Given the description of an element on the screen output the (x, y) to click on. 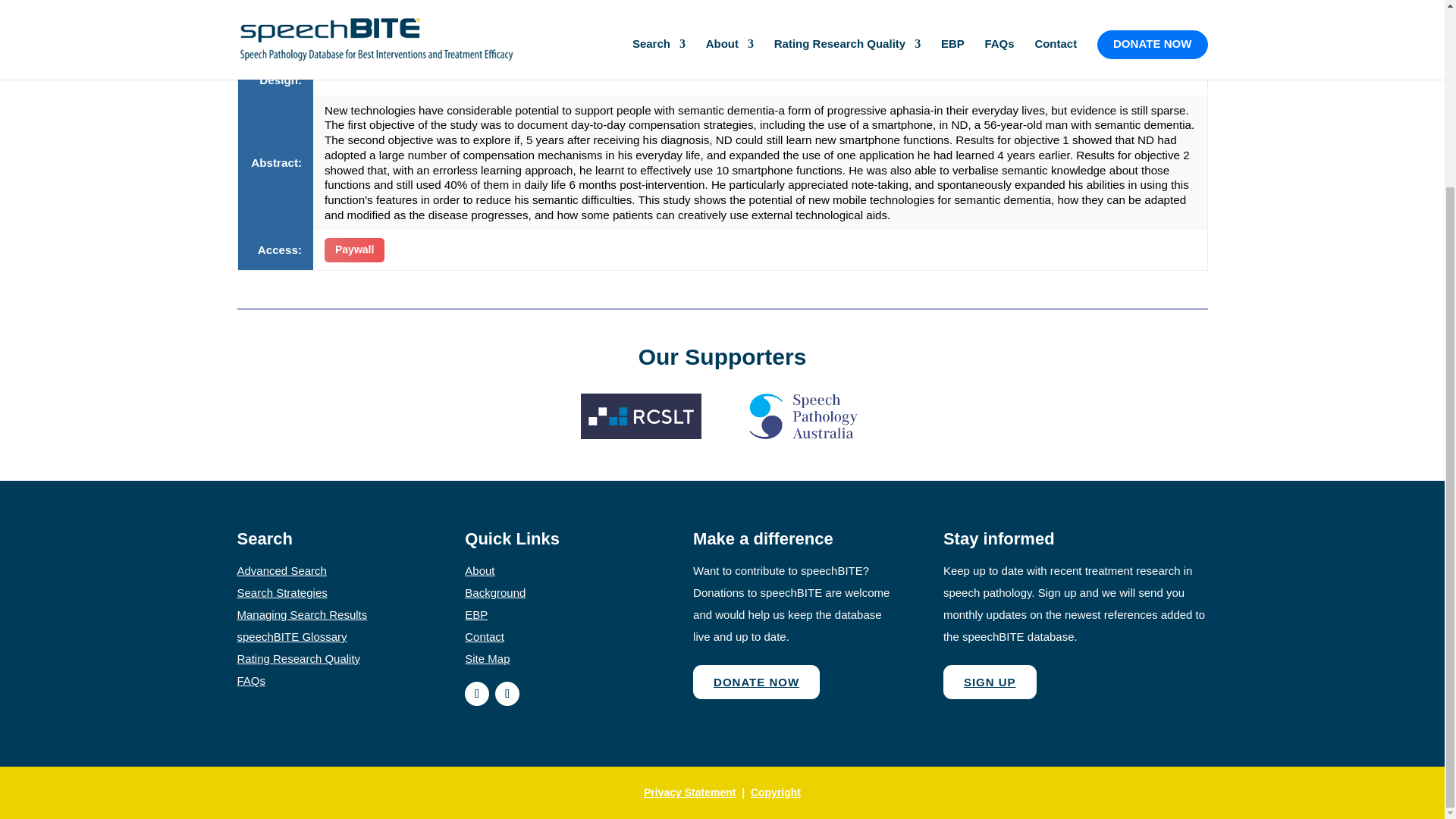
speechBITE Glossary (290, 635)
Search Strategies (280, 592)
Follow on X (507, 693)
Advanced Search (280, 570)
Managing Search Results (300, 614)
Follow on Facebook (476, 693)
Paywall (354, 250)
